Given the description of an element on the screen output the (x, y) to click on. 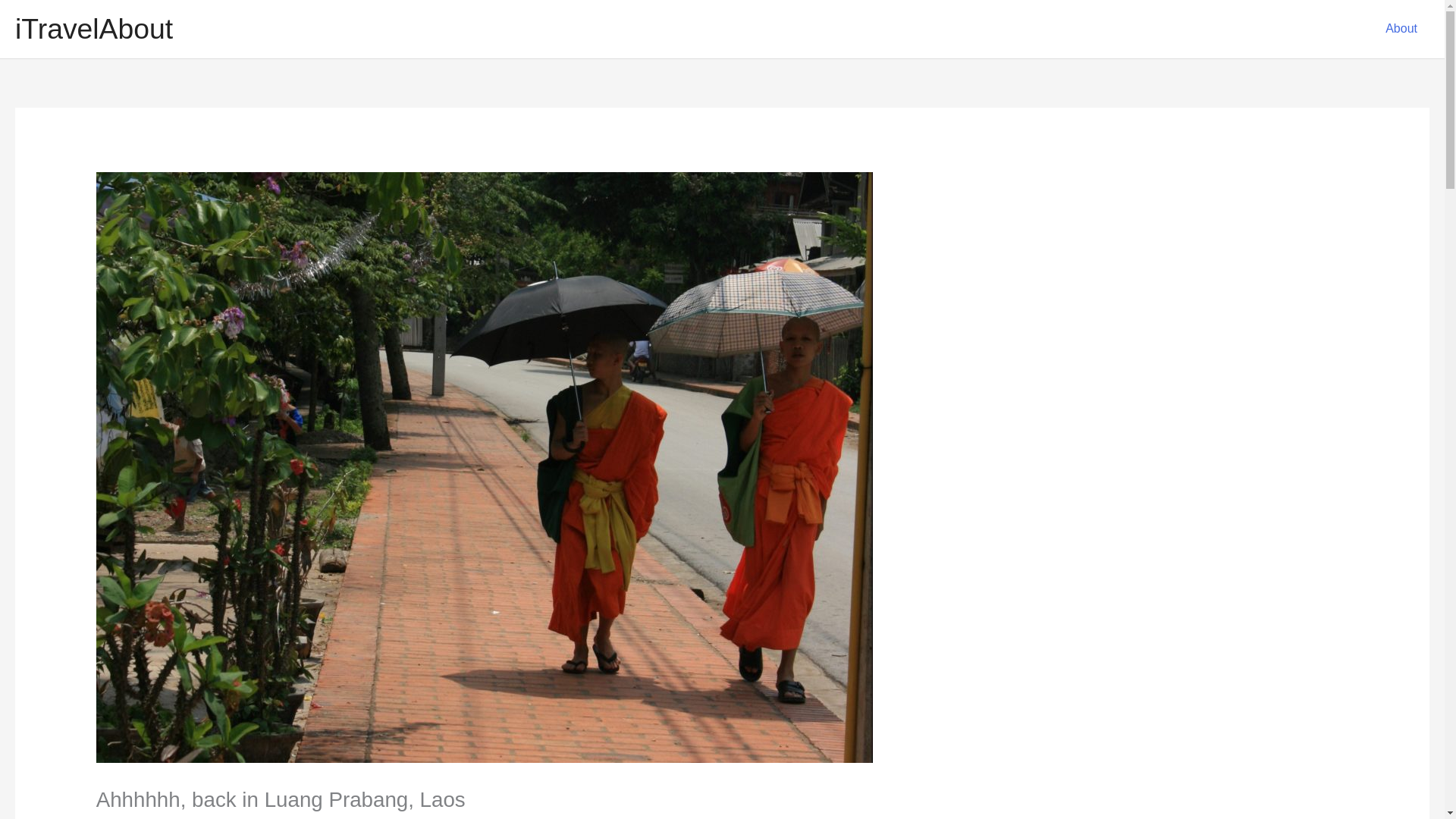
About (1401, 28)
iTravelAbout (93, 29)
